Given the description of an element on the screen output the (x, y) to click on. 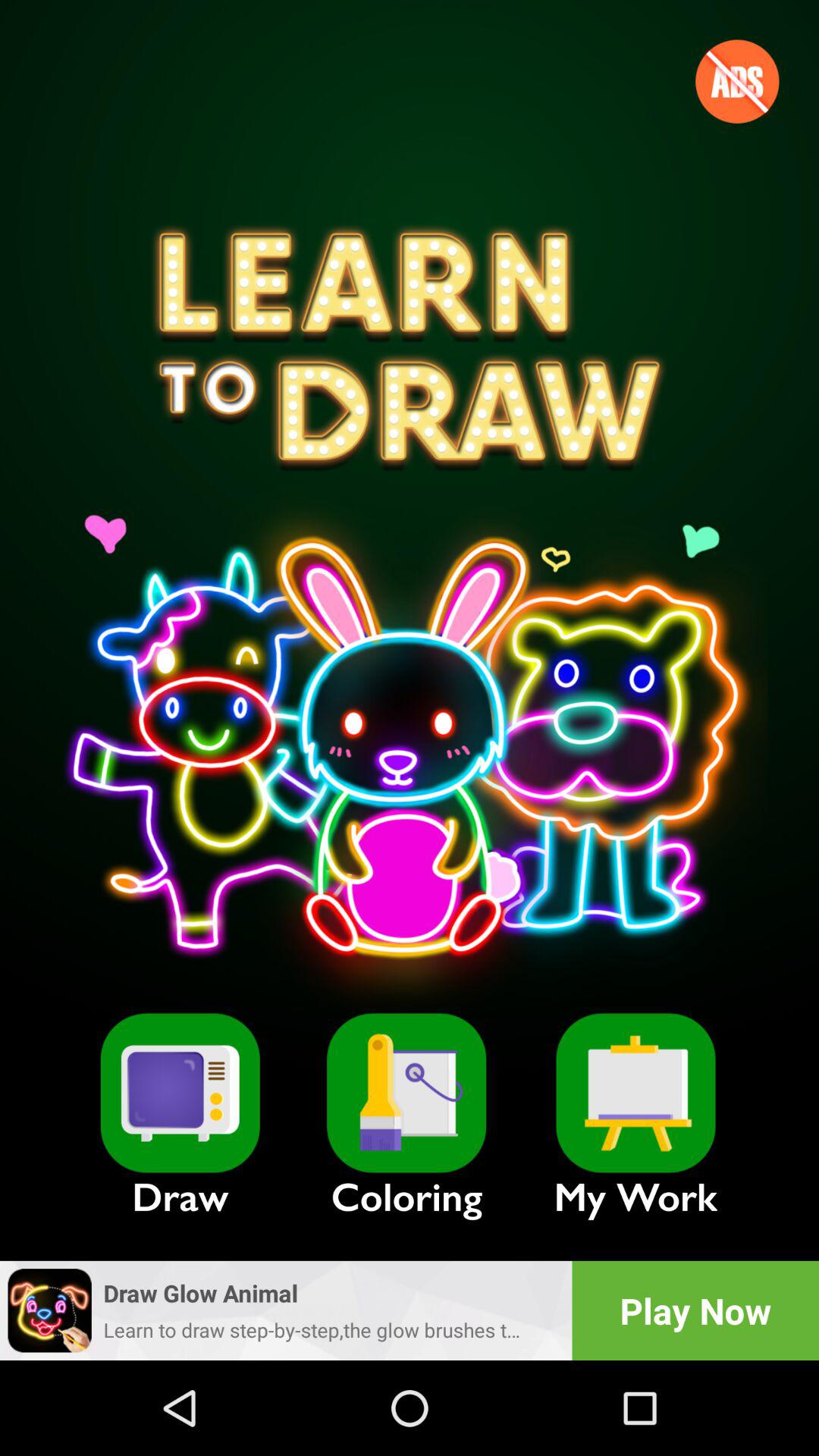
look at past drawings (635, 1092)
